Given the description of an element on the screen output the (x, y) to click on. 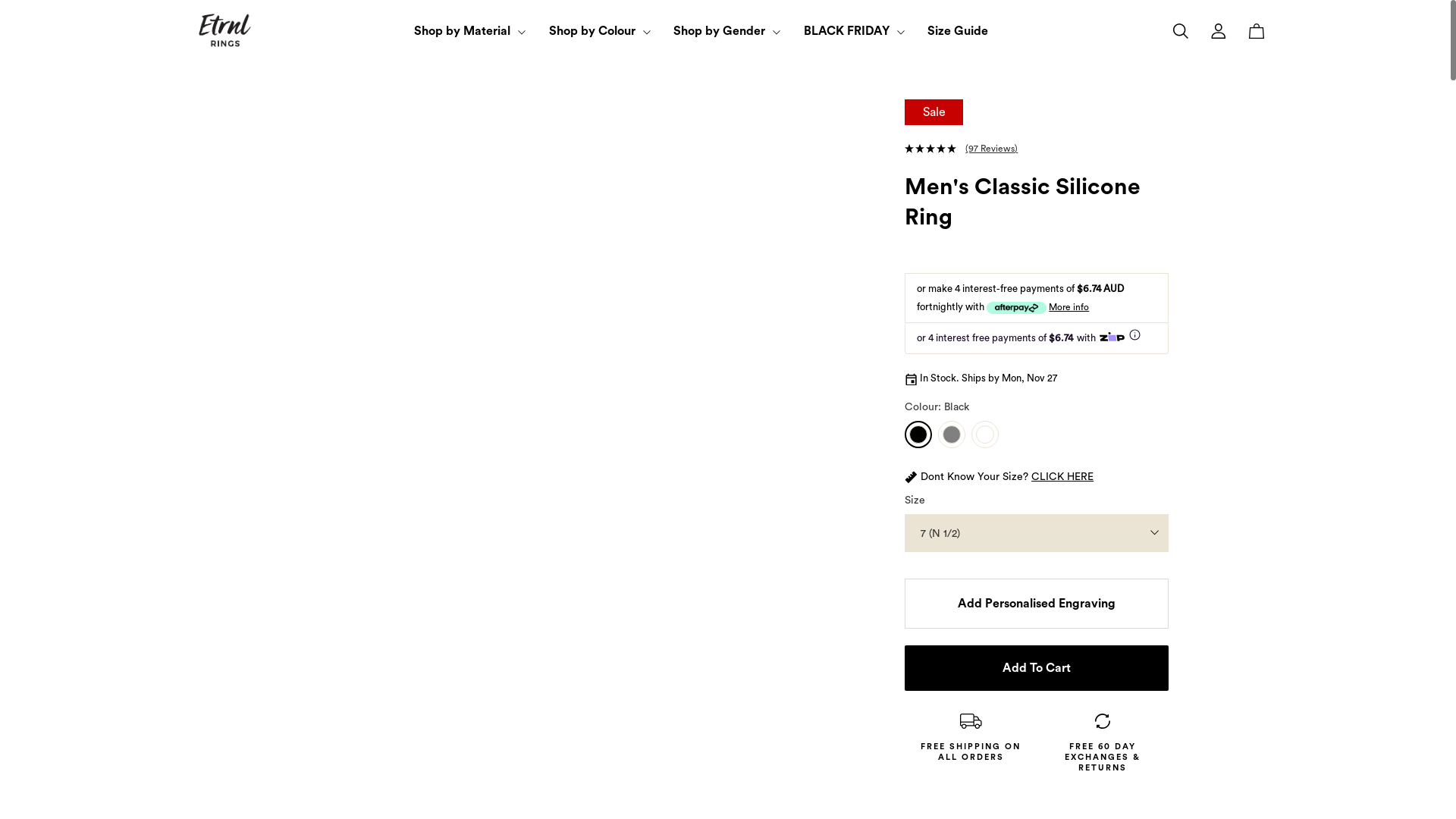
Shop by Colour Element type: text (602, 30)
Shop by Gender Element type: text (730, 30)
Shop by Material Element type: text (473, 30)
CLICK HERE Element type: text (1062, 476)
BLACK FRIDAY Element type: text (857, 30)
Add Personalised Engraving Element type: text (1035, 603)
Add To Cart Element type: text (1035, 667)
ETRNL Element type: hover (224, 30)
More info Element type: text (1068, 306)
Size Guide Element type: text (957, 30)
